Given the description of an element on the screen output the (x, y) to click on. 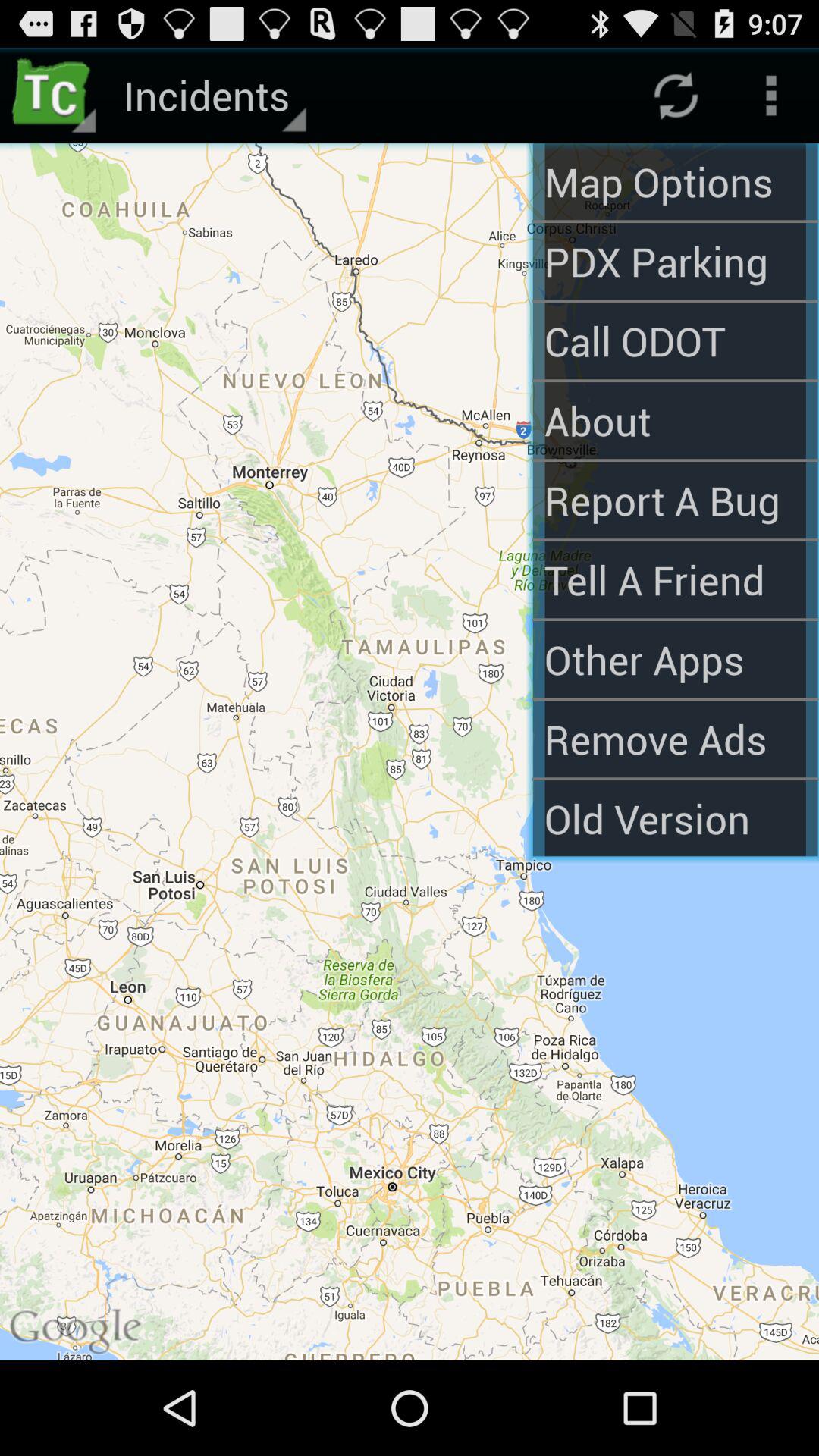
jump until pdx parking (675, 260)
